Given the description of an element on the screen output the (x, y) to click on. 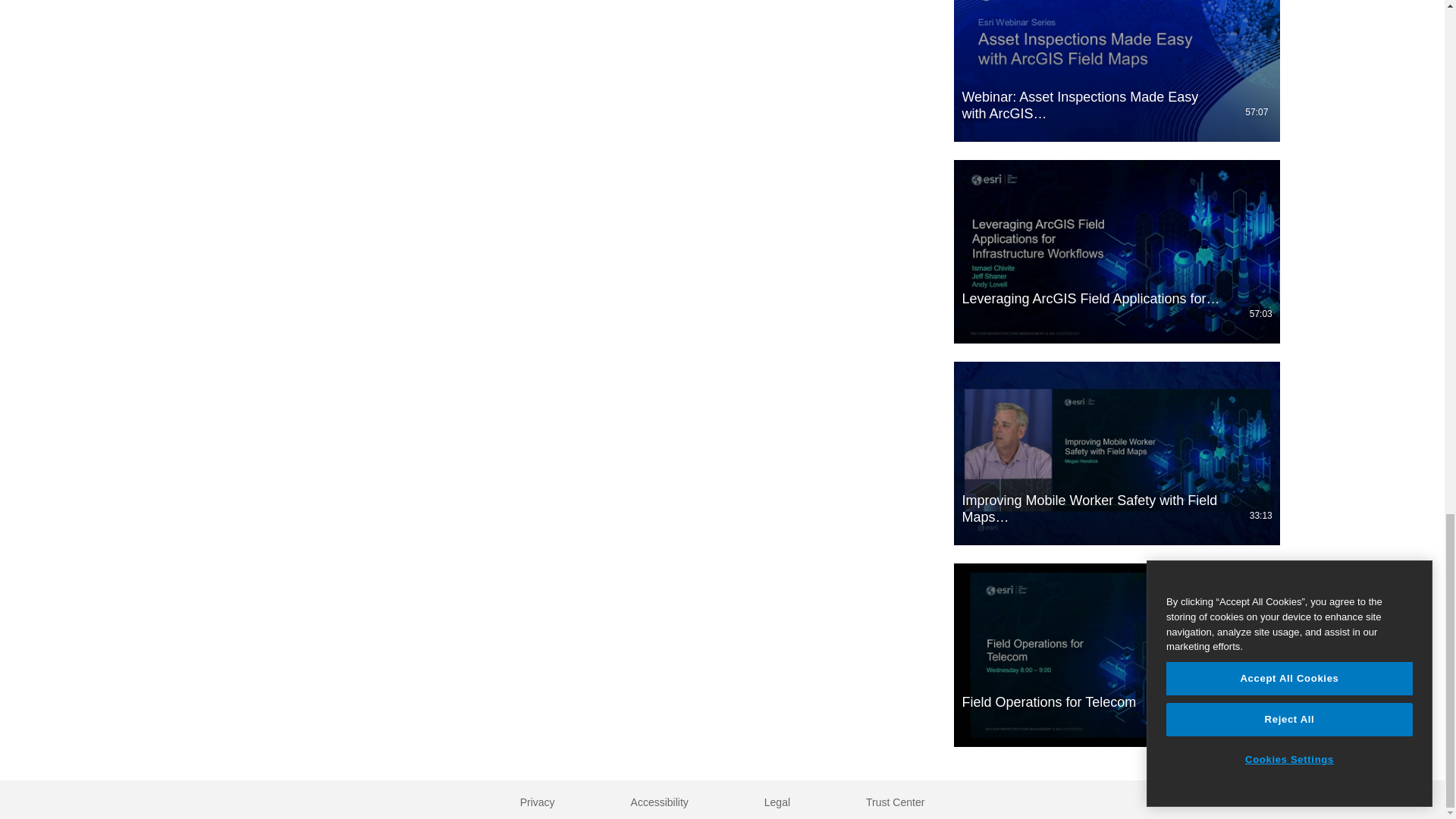
Webinar: Asset Inspections Made Easy with ArcGIS Field Maps (1116, 70)
Field Operations for Telecom (1116, 654)
